Given the description of an element on the screen output the (x, y) to click on. 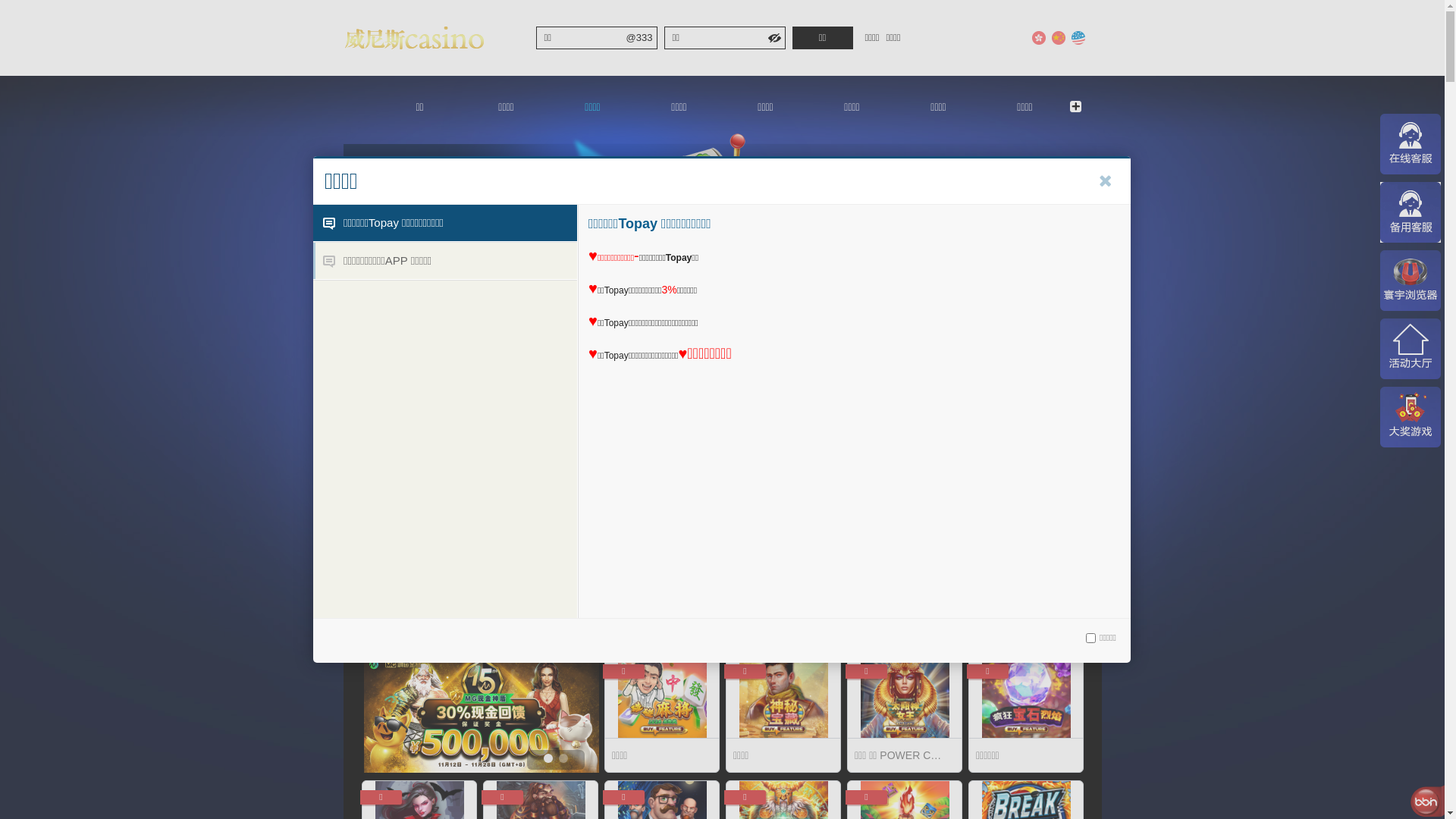
English Element type: hover (1077, 37)
